Given the description of an element on the screen output the (x, y) to click on. 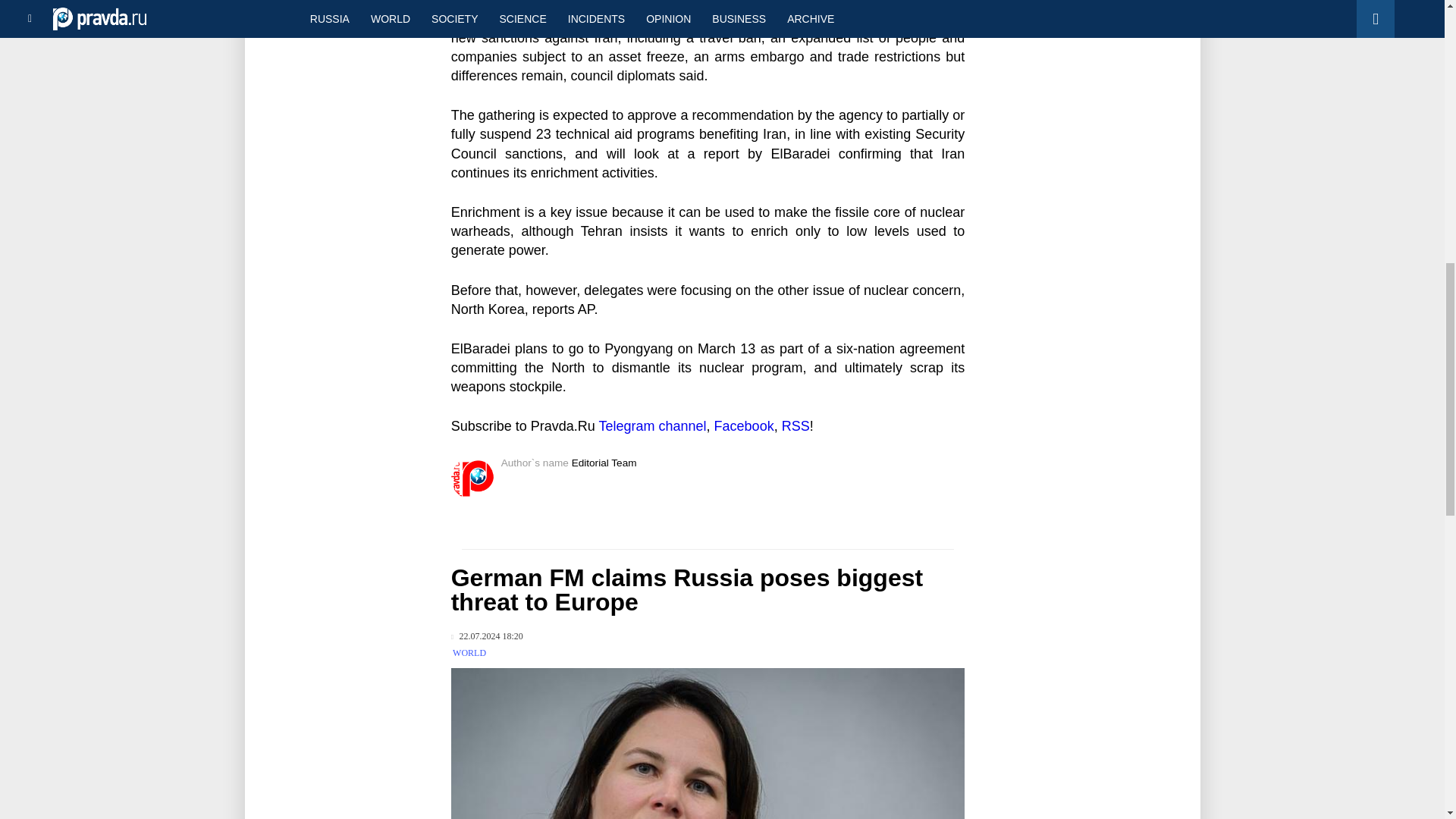
Telegram channel (652, 426)
WORLD (469, 652)
Published (486, 636)
Editorial Team (604, 462)
Back to top (1418, 79)
RSS (795, 426)
Facebook (744, 426)
Ukraine loses another Abrams tank in special operation zone (348, 4)
